Given the description of an element on the screen output the (x, y) to click on. 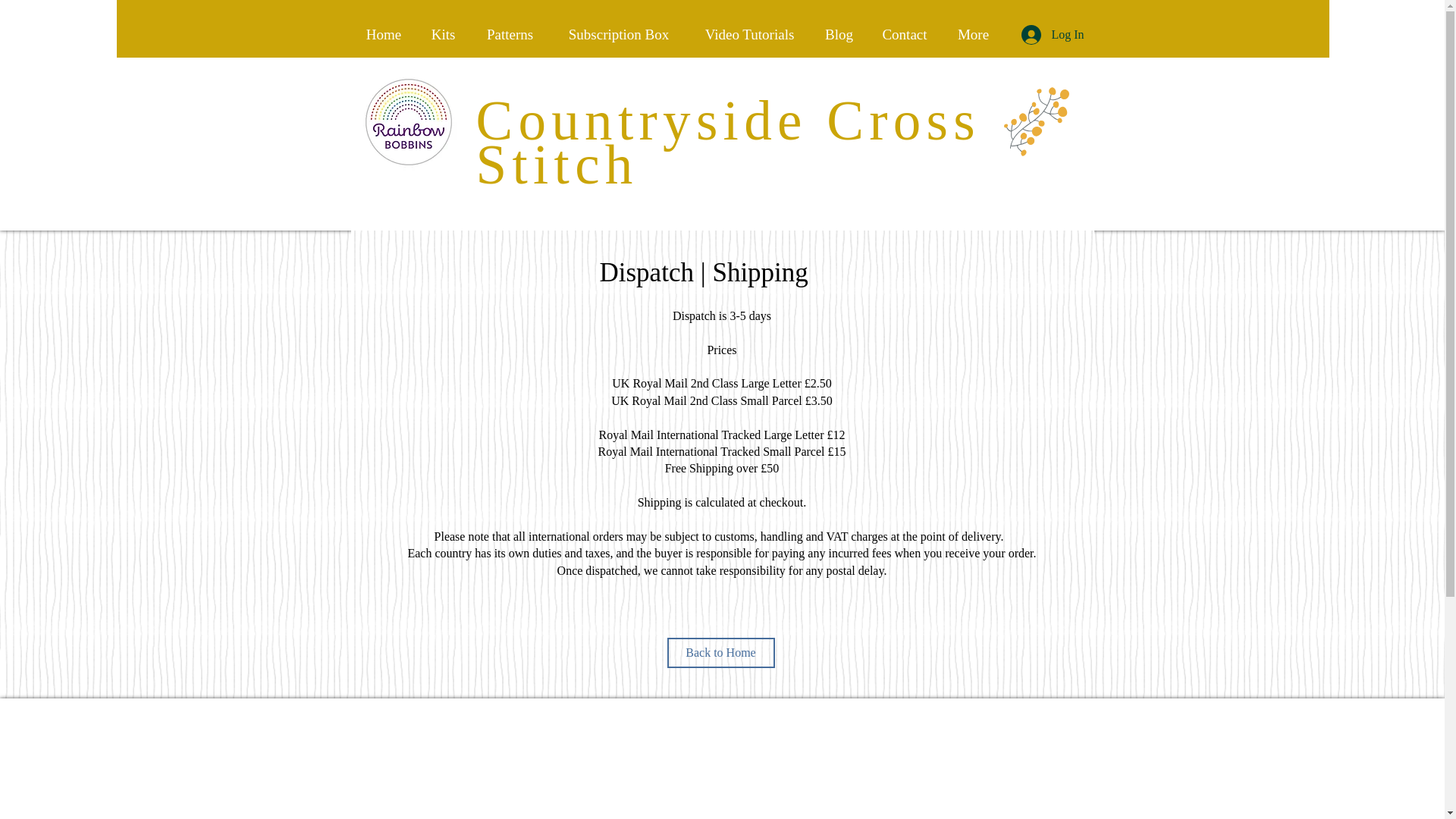
Kits (443, 34)
Subscription Box (618, 34)
Patterns (510, 34)
Blog (838, 34)
Video Tutorials (748, 34)
Embedded Content (728, 766)
Back to Home (720, 653)
Log In (1051, 34)
Home (383, 34)
Contact (904, 34)
